Given the description of an element on the screen output the (x, y) to click on. 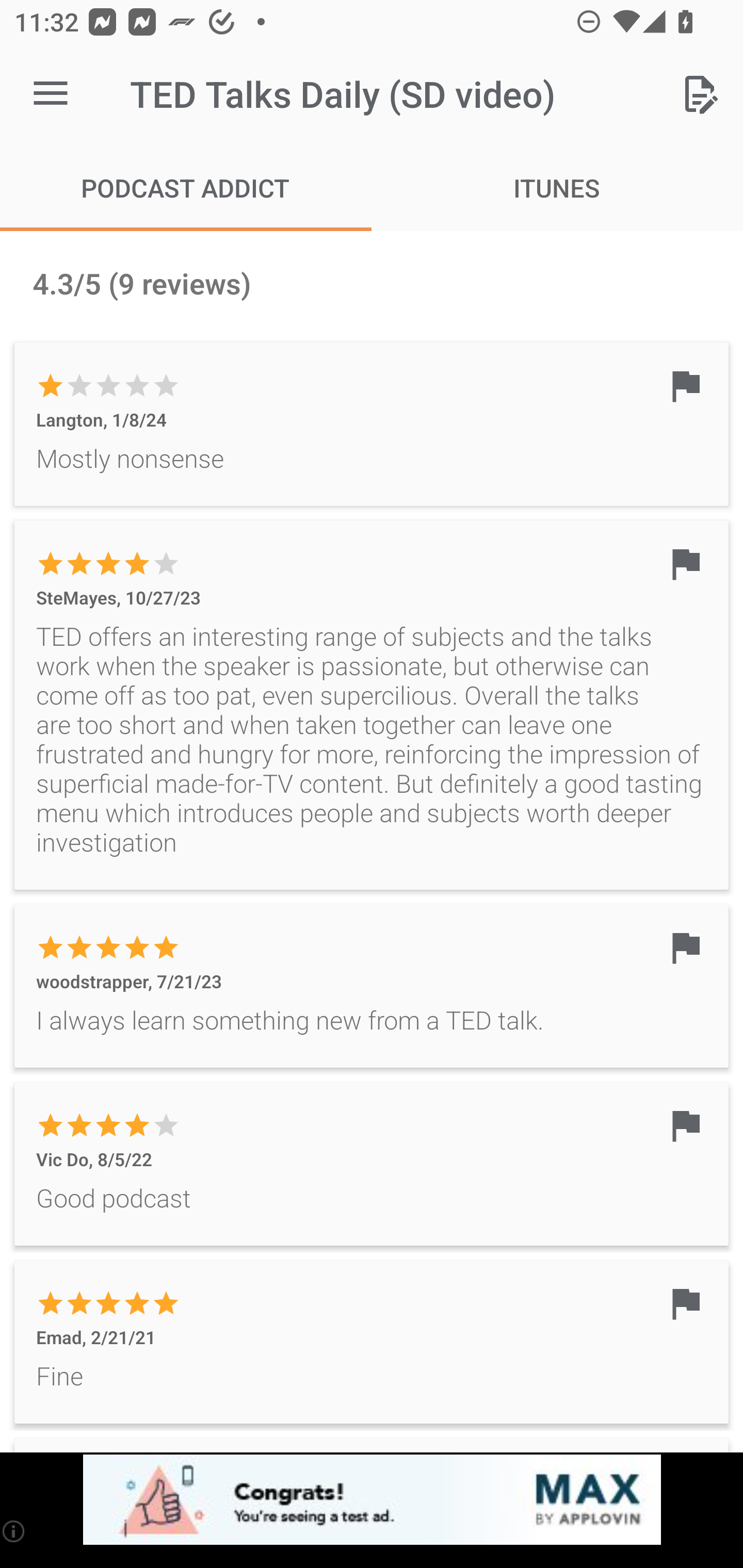
Open navigation sidebar (50, 93)
Rate this podcast (699, 93)
iTunes ITUNES (557, 187)
Flag as inappropriate (684, 385)
Flag as inappropriate (684, 563)
Flag as inappropriate (684, 947)
Flag as inappropriate (684, 1125)
Flag as inappropriate (684, 1302)
app-monetization (371, 1500)
(i) (14, 1531)
